Given the description of an element on the screen output the (x, y) to click on. 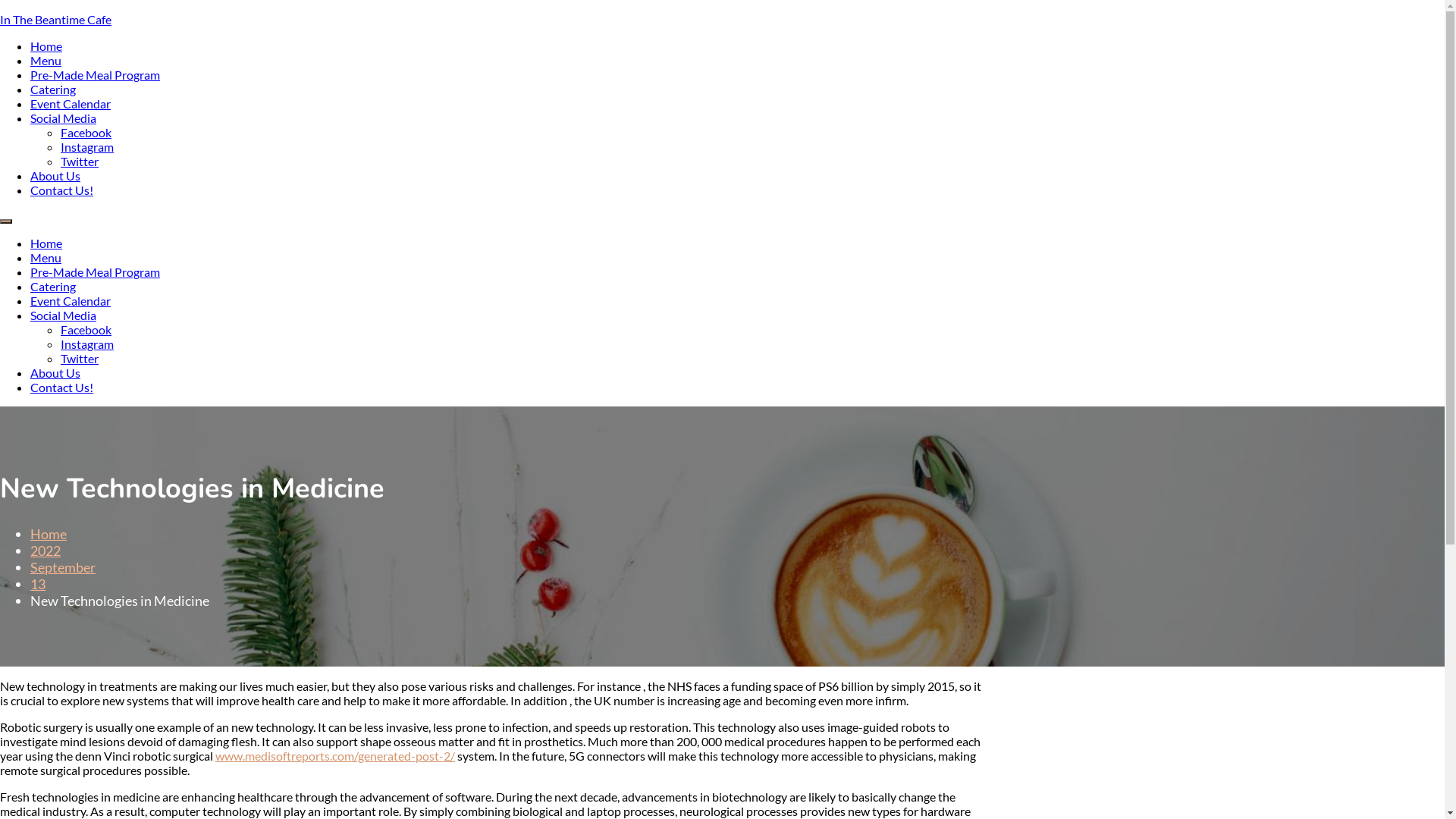
Event Calendar Element type: text (70, 103)
Menu Element type: text (45, 257)
Pre-Made Meal Program Element type: text (95, 271)
Home Element type: text (48, 533)
Pre-Made Meal Program Element type: text (95, 74)
Facebook Element type: text (85, 329)
13 Element type: text (37, 583)
2022 Element type: text (45, 550)
Instagram Element type: text (86, 343)
Catering Element type: text (52, 88)
Home Element type: text (46, 242)
Menu Element type: text (45, 60)
About Us Element type: text (55, 175)
Twitter Element type: text (79, 358)
Social Media Element type: text (63, 117)
Contact Us! Element type: text (61, 189)
Twitter Element type: text (79, 160)
Facebook Element type: text (85, 132)
www.medisoftreports.com/generated-post-2/ Element type: text (335, 755)
About Us Element type: text (55, 372)
Social Media Element type: text (63, 314)
Contact Us! Element type: text (61, 386)
Home Element type: text (46, 45)
September Element type: text (62, 566)
In The Beantime Cafe Element type: text (55, 19)
Catering Element type: text (52, 286)
Instagram Element type: text (86, 146)
Event Calendar Element type: text (70, 300)
